Given the description of an element on the screen output the (x, y) to click on. 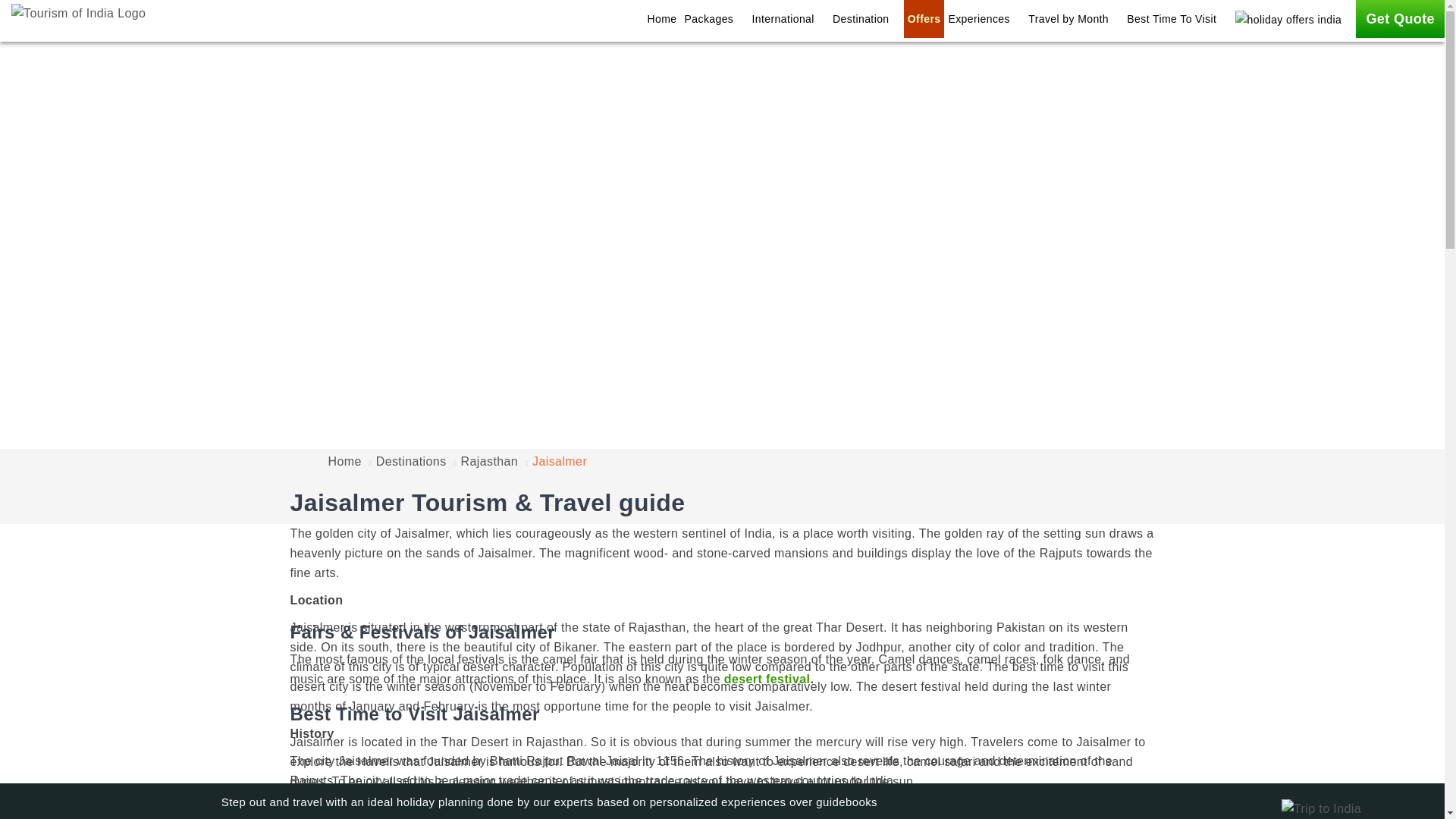
Home (662, 18)
International (788, 18)
Packages (714, 18)
